Given the description of an element on the screen output the (x, y) to click on. 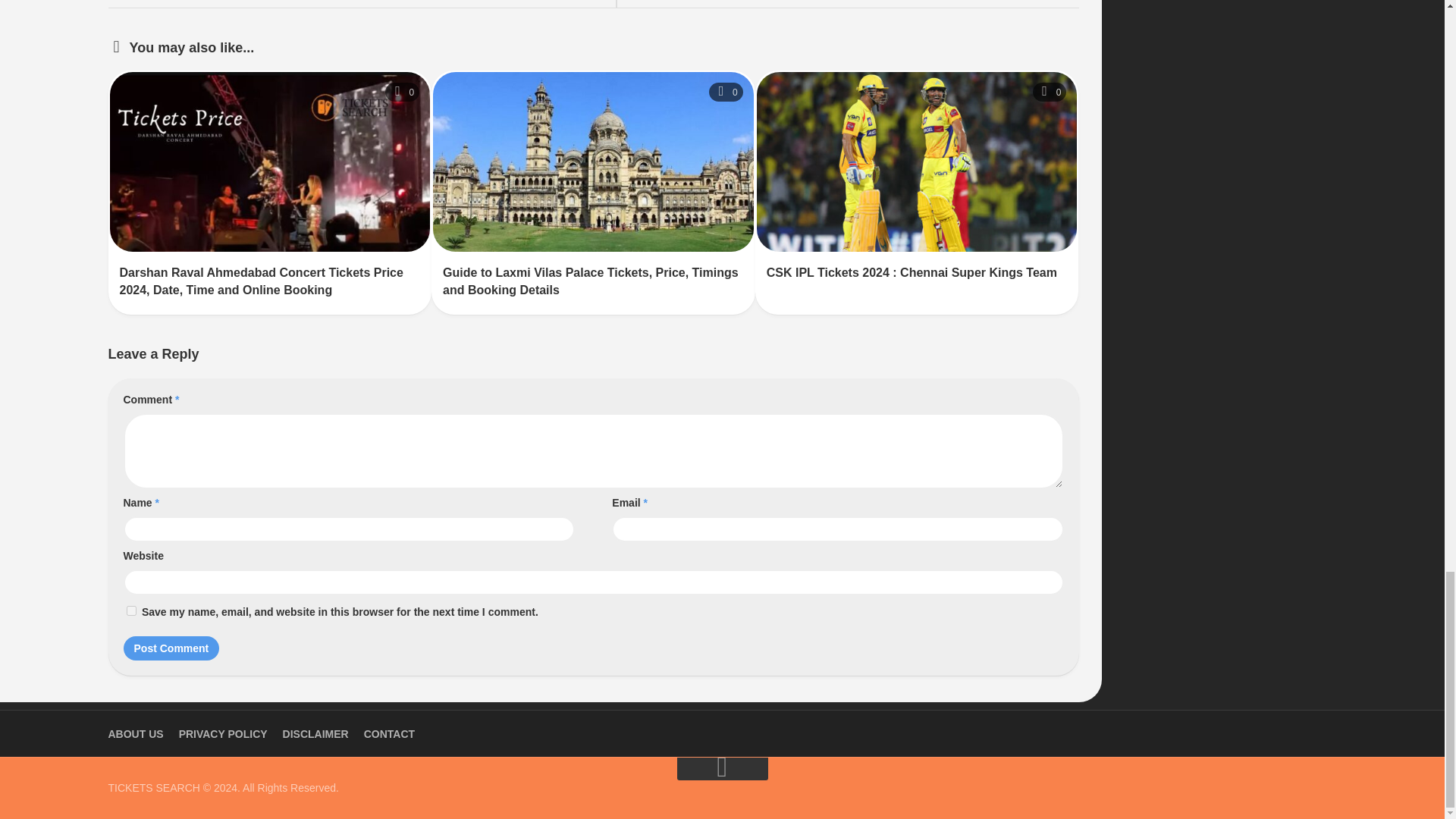
0 (725, 91)
0 (402, 91)
0 (1049, 91)
yes (130, 610)
CSK IPL Tickets 2024 : Chennai Super Kings Team (912, 272)
Post Comment (170, 648)
